Given the description of an element on the screen output the (x, y) to click on. 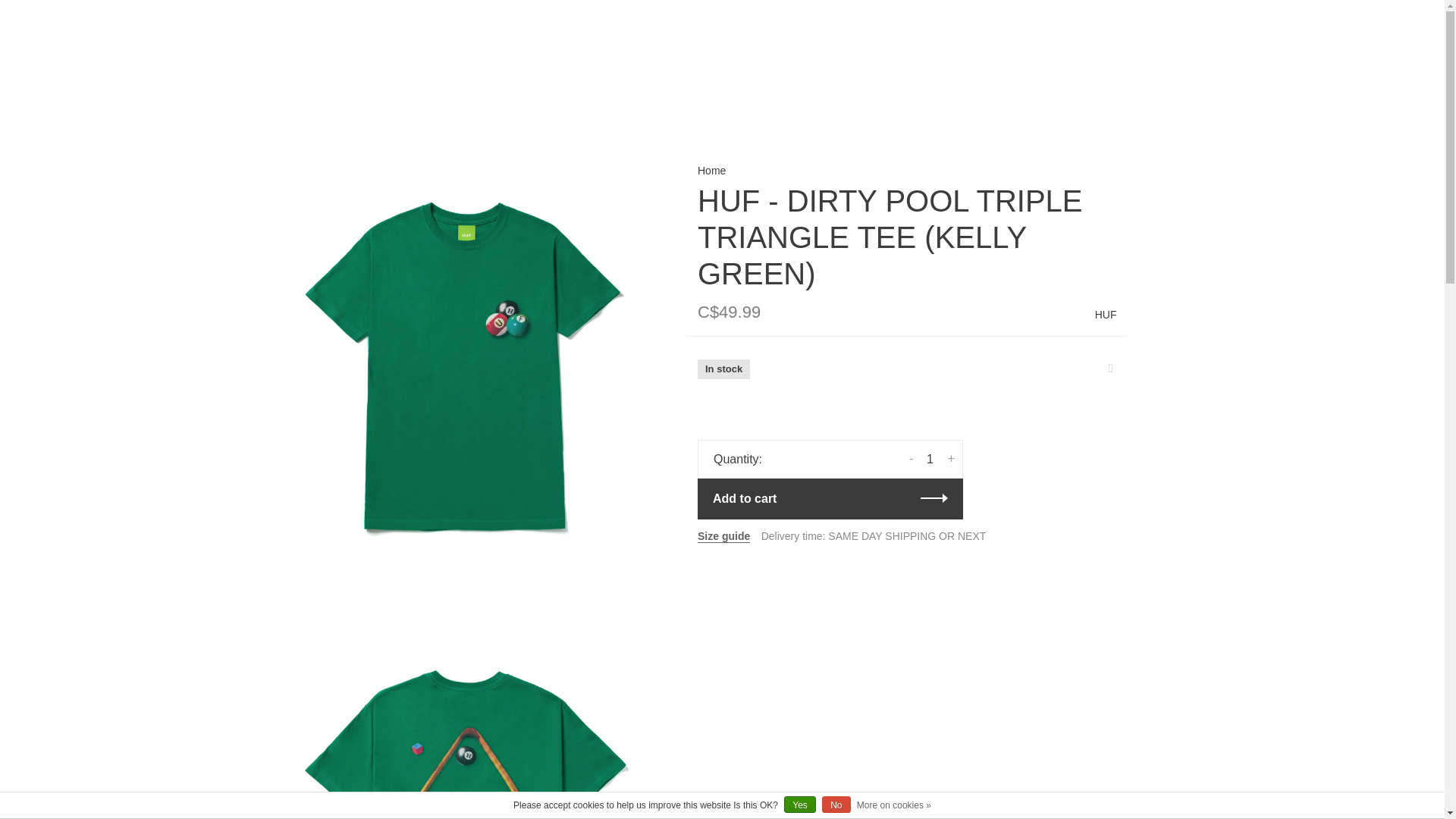
1 (929, 459)
